Given the description of an element on the screen output the (x, y) to click on. 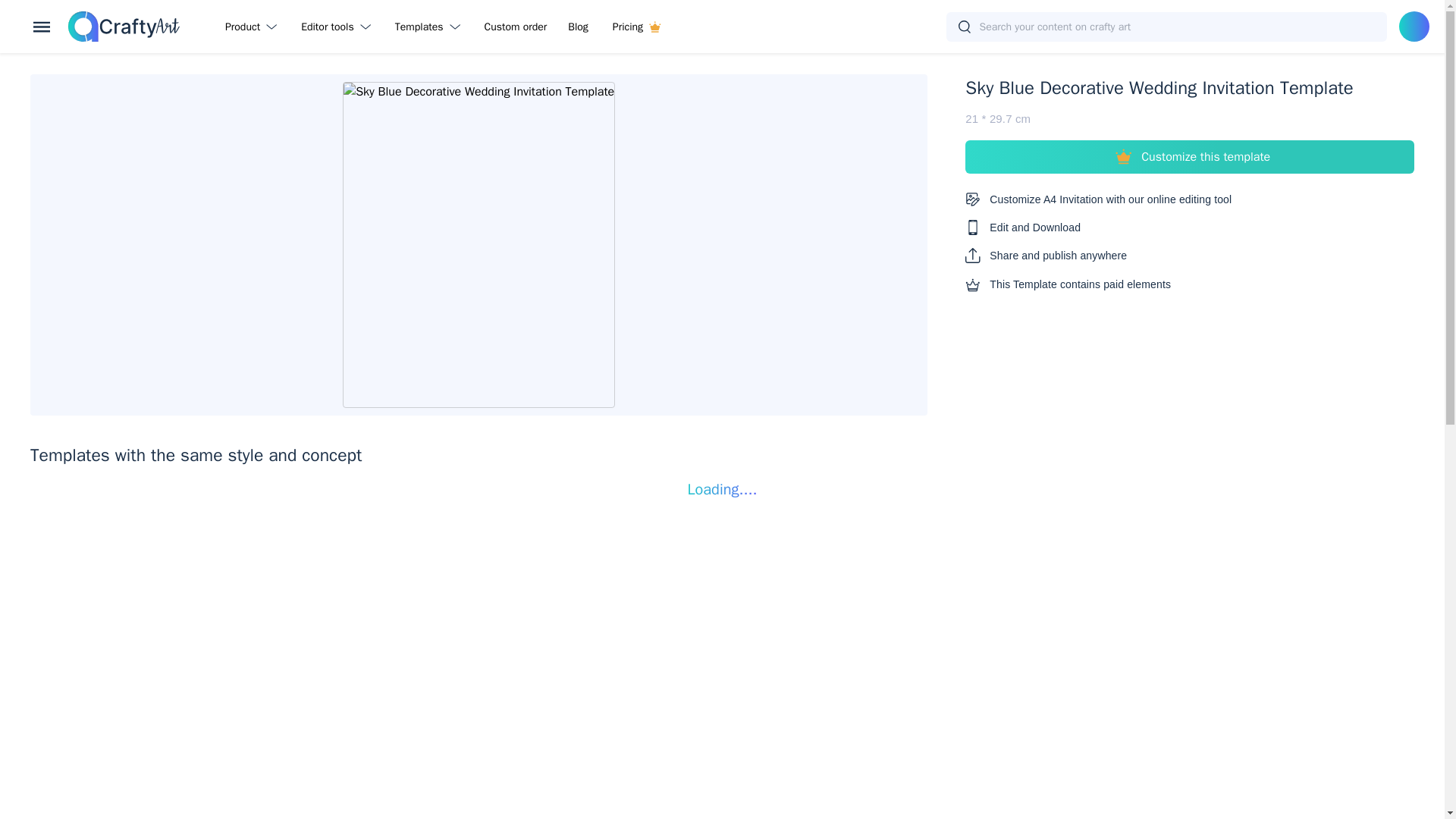
Templates (430, 26)
Product (253, 26)
Custom order (516, 26)
Editor tools (338, 26)
Blog (577, 26)
Pricing (635, 26)
